Given the description of an element on the screen output the (x, y) to click on. 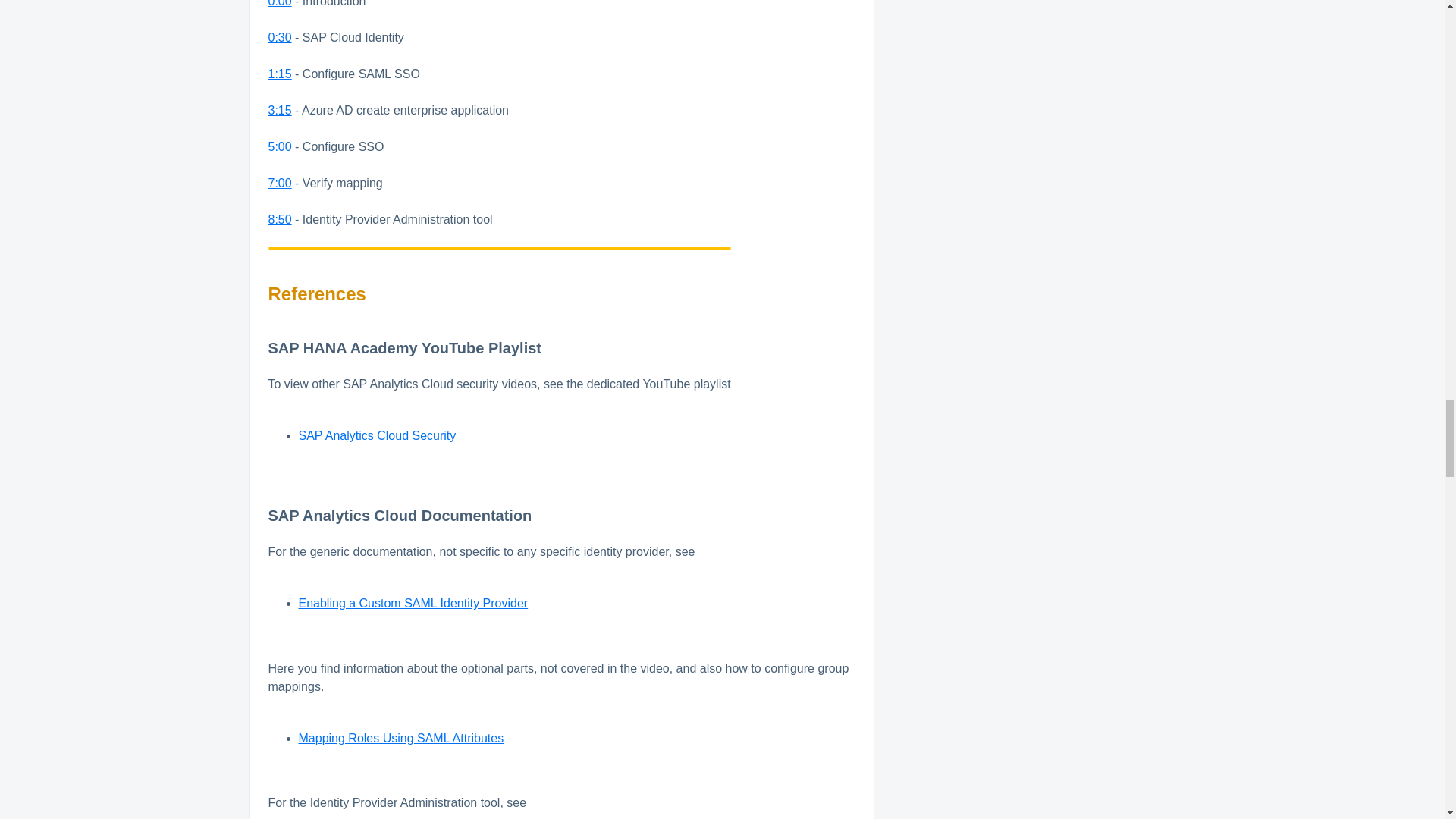
3:15 (279, 110)
SAP Analytics Cloud Security (377, 435)
Enabling a Custom SAML Identity Provider (413, 603)
0:30 (279, 37)
Mapping Roles Using SAML Attributes (400, 738)
1:15 (279, 73)
7:00 (279, 182)
5:00 (279, 146)
8:50 (279, 219)
0:00 (279, 3)
